Given the description of an element on the screen output the (x, y) to click on. 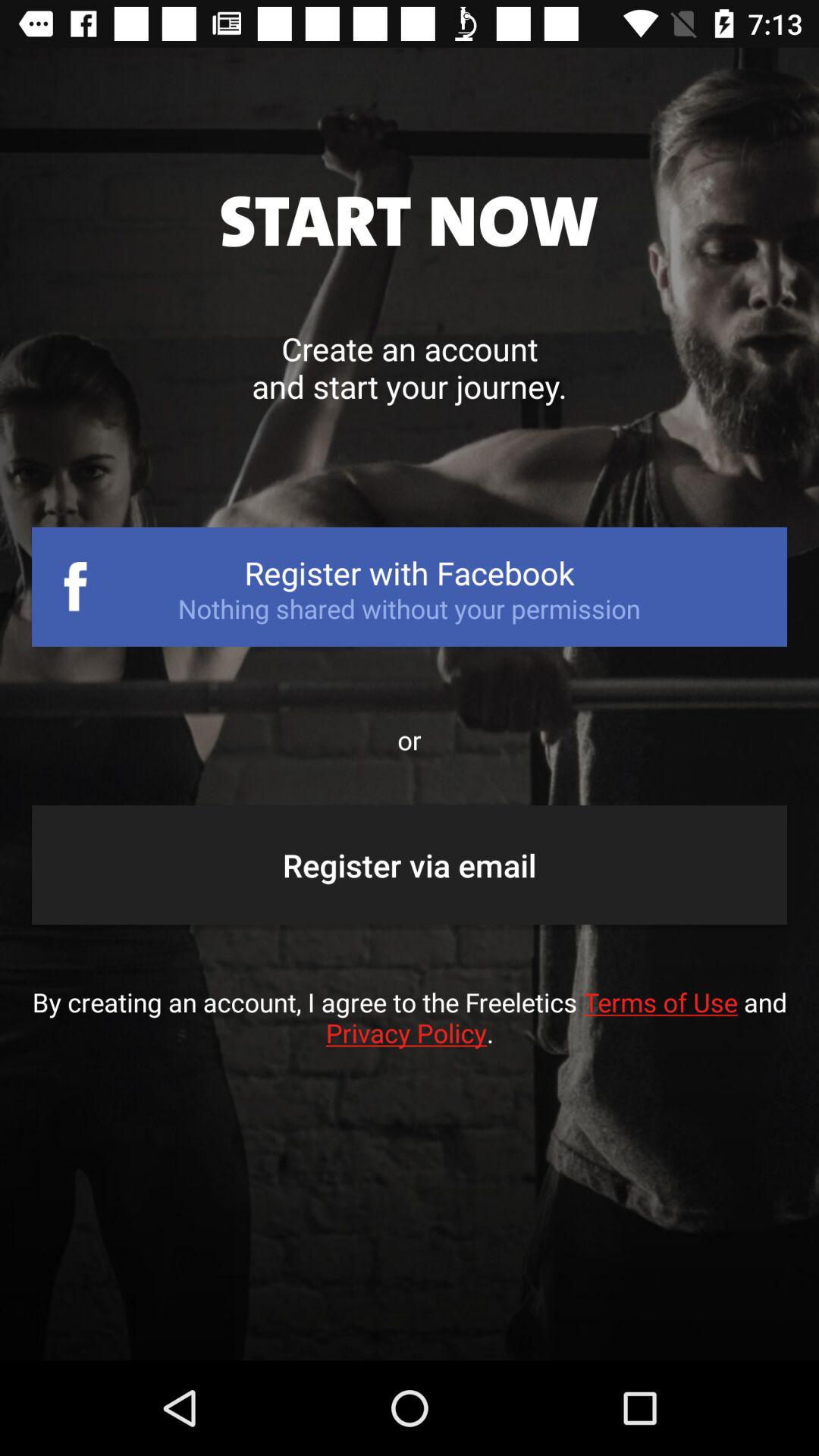
swipe to register via email item (409, 864)
